Given the description of an element on the screen output the (x, y) to click on. 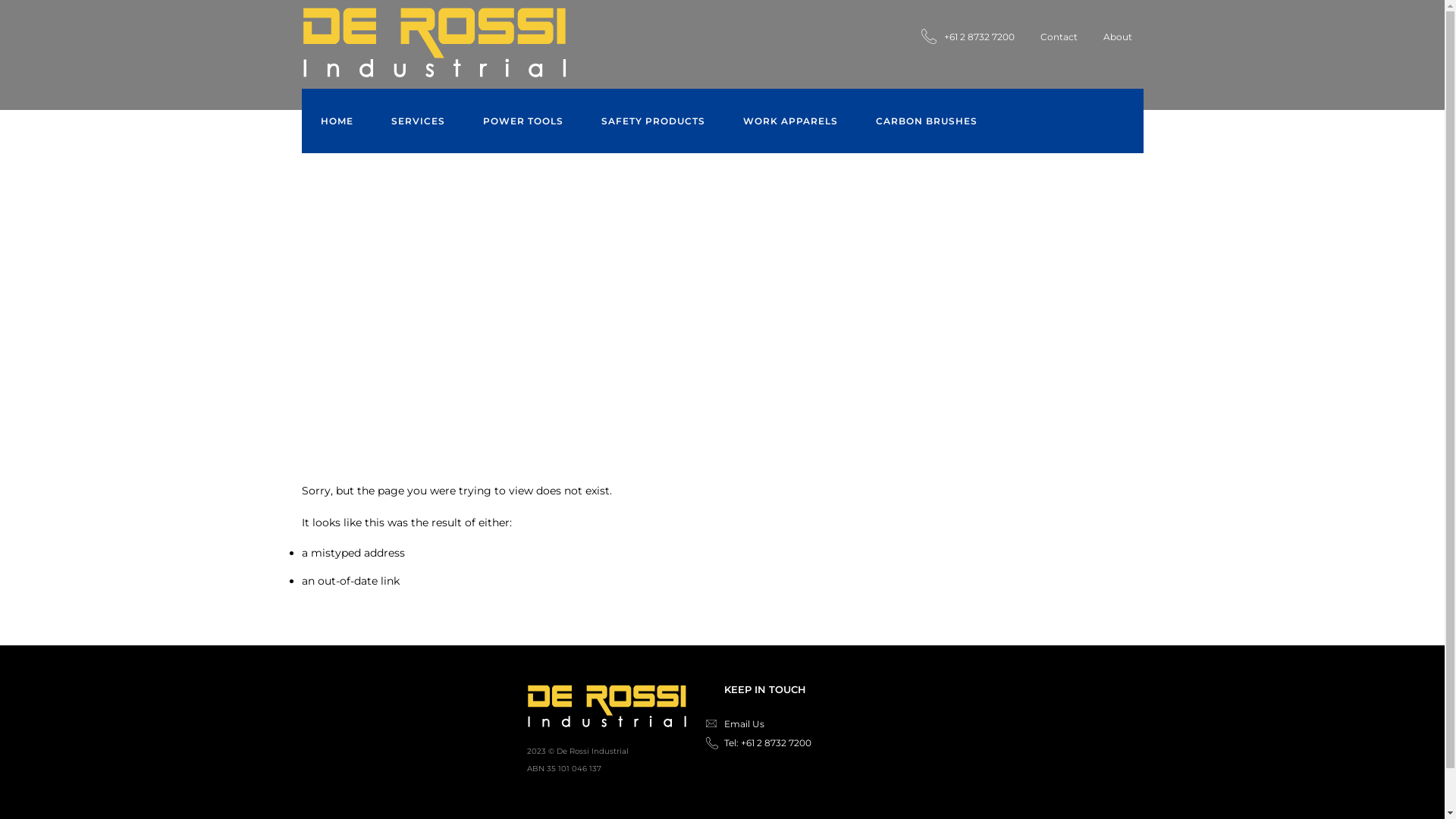
Email Us Element type: text (743, 723)
HOME Element type: text (336, 120)
De Rossi Industrial Element type: hover (607, 707)
WORK APPARELS Element type: text (789, 120)
POWER TOOLS Element type: text (523, 120)
De Rossi Industrial Element type: hover (434, 41)
SERVICES Element type: text (417, 120)
Tel: +61 2 8732 7200 Element type: text (766, 742)
SAFETY PRODUCTS Element type: text (653, 120)
CARBON BRUSHES Element type: text (926, 120)
About Element type: text (1116, 36)
+61 2 8732 7200 Element type: text (966, 36)
Contact Element type: text (1058, 36)
